Given the description of an element on the screen output the (x, y) to click on. 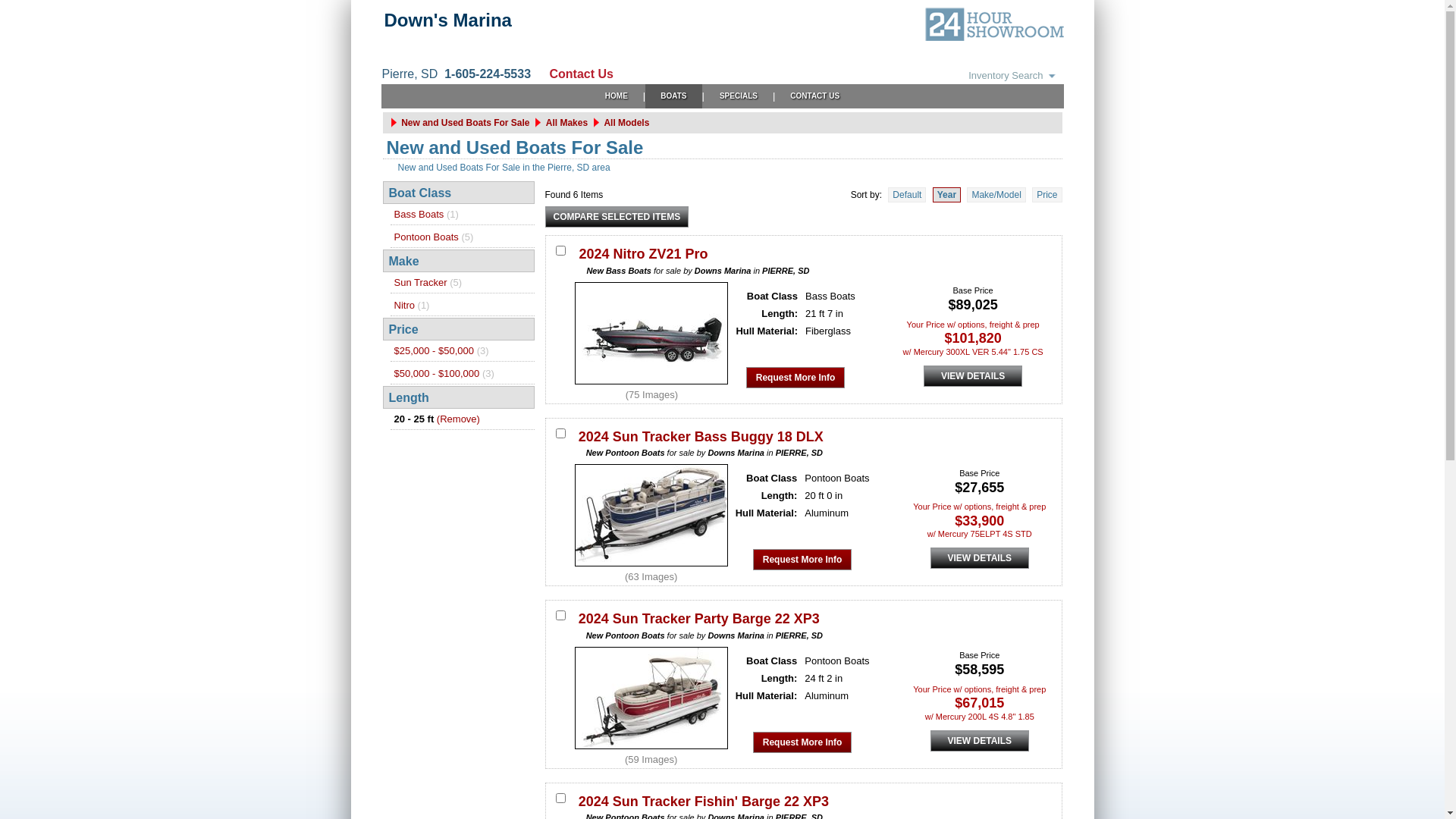
Bass Boats Element type: text (419, 213)
Contact Us Element type: text (572, 73)
9145744 Element type: text (560, 432)
Make/Model Element type: text (995, 194)
9031647 Element type: text (560, 250)
VIEW DETAILS Element type: text (979, 739)
HOME Element type: text (616, 96)
Click here to view details. Element type: hover (651, 384)
BOATS Element type: text (673, 96)
Price Element type: text (1046, 194)
SPECIALS Element type: text (738, 96)
(Remove) Element type: text (458, 418)
VIEW DETAILS Element type: text (979, 557)
2024 Nitro ZV21 Pro Element type: text (642, 253)
Sun Tracker Element type: text (420, 282)
8992822 Element type: text (560, 615)
$25,000 - $50,000 Element type: text (434, 350)
CONTACT US Element type: text (814, 96)
VIEW DETAILS Element type: text (972, 375)
Year Element type: text (946, 194)
Default Element type: text (906, 194)
8959535 Element type: text (560, 798)
Click here to view details. Element type: hover (651, 566)
All Models Element type: text (626, 122)
Down's Marina Element type: text (447, 19)
New and Used Boats For Sale Element type: text (465, 122)
2024 Sun Tracker Fishin' Barge 22 XP3 Element type: text (703, 800)
$50,000 - $100,000 Element type: text (437, 373)
All Makes Element type: text (566, 122)
2024 Sun Tracker Party Barge 22 XP3 Element type: text (698, 618)
Nitro Element type: text (404, 304)
Pontoon Boats Element type: text (426, 236)
Click here to view details. Element type: hover (651, 748)
2024 Sun Tracker Bass Buggy 18 DLX Element type: text (700, 436)
COMPARE SELECTED ITEMS Element type: text (616, 216)
